Given the description of an element on the screen output the (x, y) to click on. 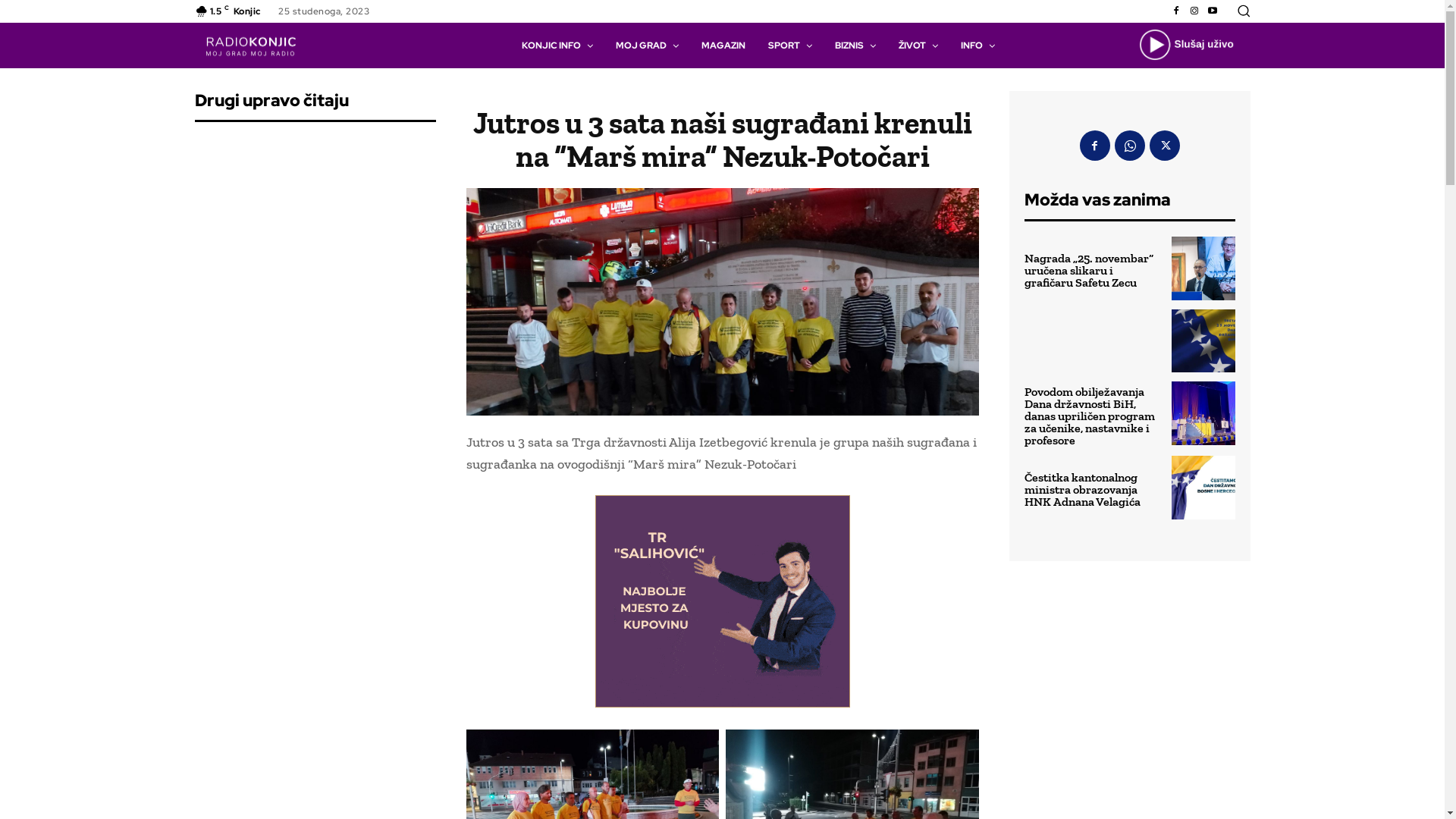
INFO Element type: text (977, 45)
KONJIC INFO Element type: text (557, 45)
Youtube Element type: hover (1211, 11)
Facebook Element type: hover (1094, 145)
BIZNIS Element type: text (855, 45)
MOJ GRAD Element type: text (647, 45)
Facebook Element type: hover (1175, 11)
WhatsApp Element type: hover (1129, 145)
MAGAZIN Element type: text (723, 45)
Twitter Element type: hover (1164, 145)
Instagram Element type: hover (1193, 11)
SPORT Element type: text (789, 45)
